Given the description of an element on the screen output the (x, y) to click on. 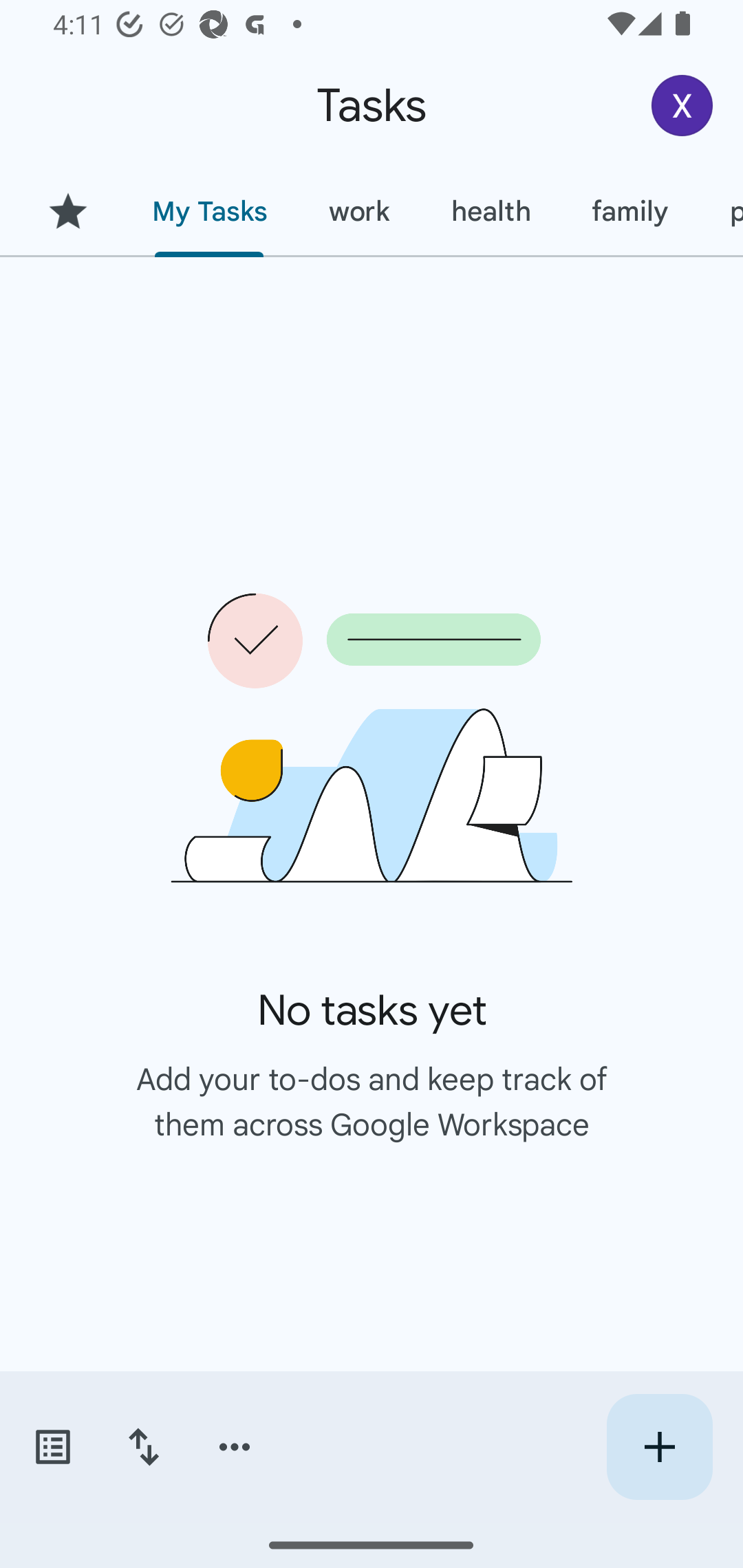
Starred (67, 211)
work (358, 211)
health (490, 211)
family (629, 211)
Switch task lists (52, 1447)
Create new task (659, 1446)
Change sort order (143, 1446)
More options (234, 1446)
